Given the description of an element on the screen output the (x, y) to click on. 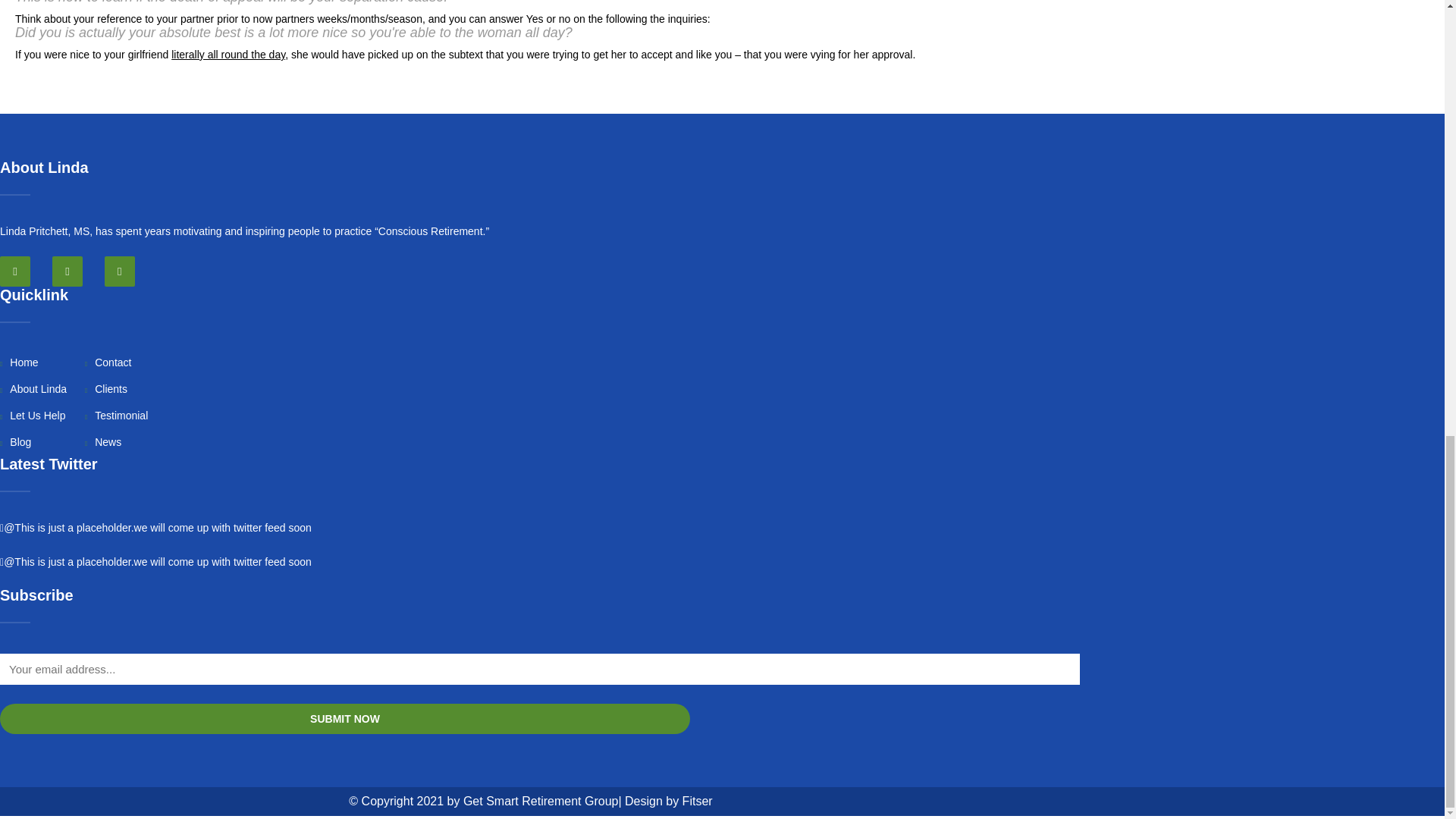
Submit Now (345, 718)
About Linda (33, 388)
Home (19, 362)
Clients (106, 388)
Get Smart Retirement Group (540, 800)
Testimonial (116, 415)
Contact (108, 362)
News (102, 441)
Submit Now (345, 718)
Blog (15, 441)
Let Us Help (32, 415)
